Given the description of an element on the screen output the (x, y) to click on. 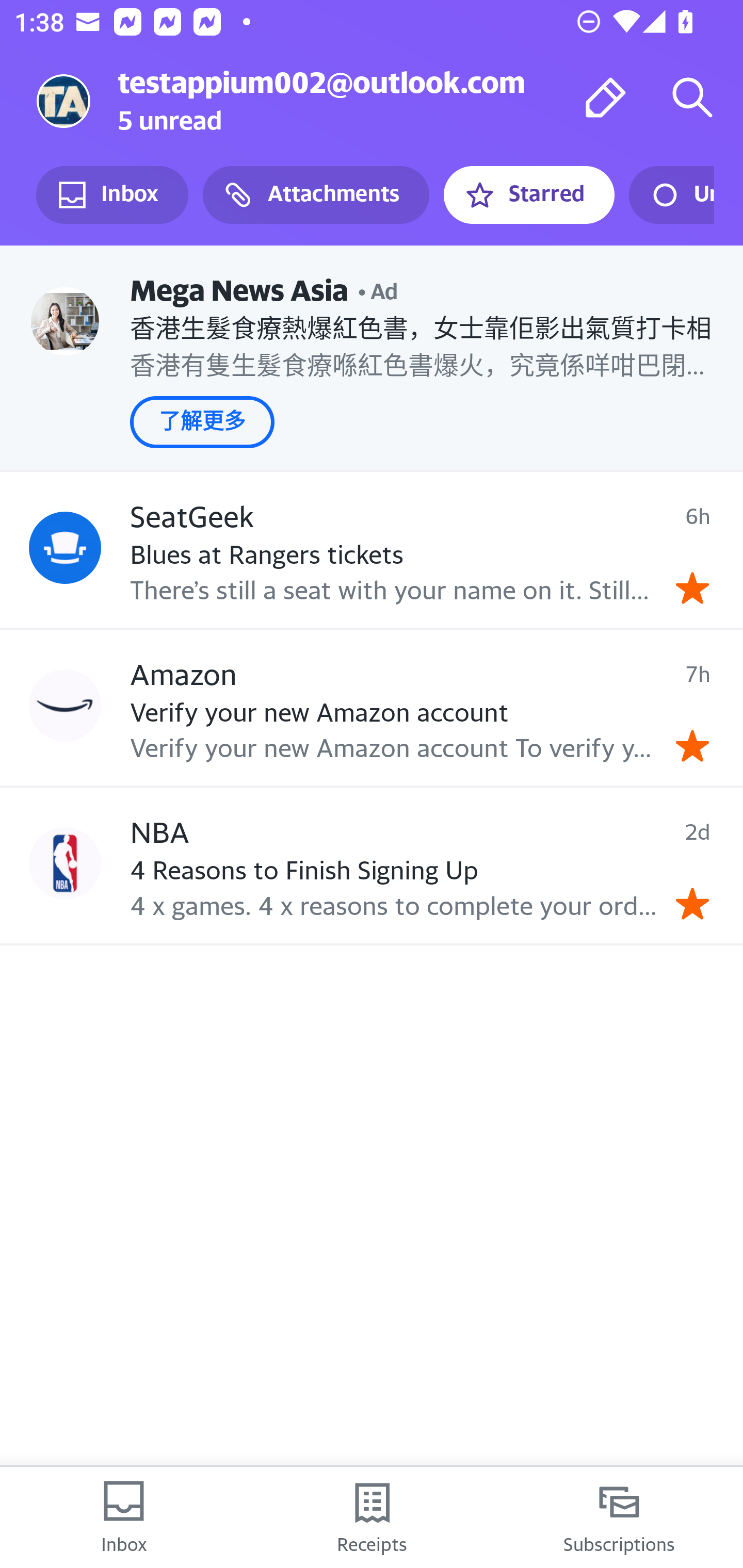
Compose (605, 97)
Search mail (692, 97)
Inbox (111, 195)
Attachments (315, 195)
Profile
SeatGeek (64, 547)
Remove star. (692, 587)
Profile
Amazon (64, 705)
Remove star. (692, 745)
Profile
NBA (64, 863)
Remove star. (692, 903)
Inbox (123, 1517)
Receipts (371, 1517)
Subscriptions (619, 1517)
